Given the description of an element on the screen output the (x, y) to click on. 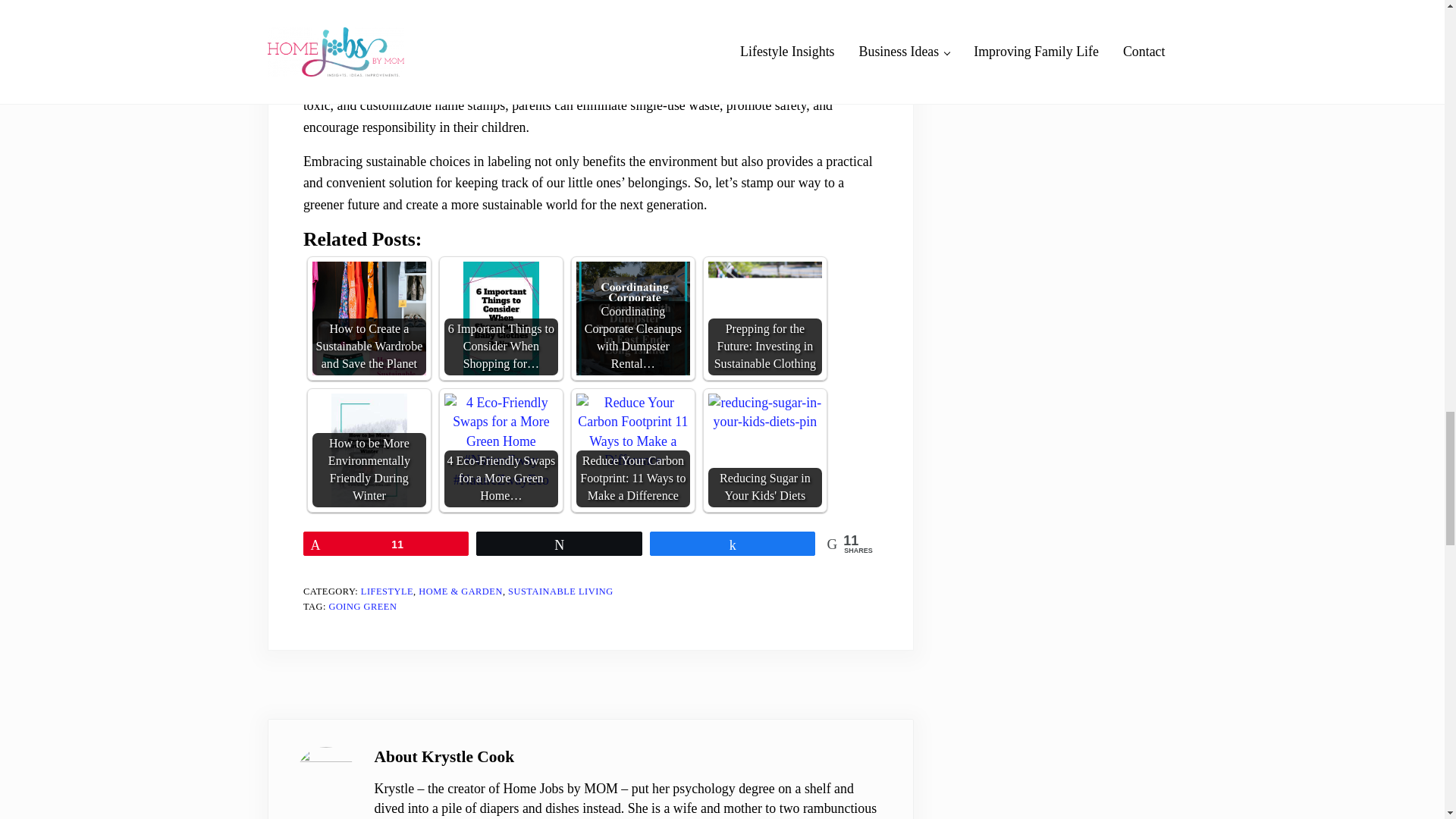
11 (386, 543)
Reduce Your Carbon Footprint: 11 Ways to Make a Difference (633, 449)
How to Create a Sustainable Wardrobe and Save the Planet (369, 318)
reducing our ecological footprint (611, 83)
Prepping for the Future: Investing in Sustainable Clothing (764, 304)
Reduce Your Carbon Footprint: 11 Ways to Make a Difference (633, 431)
Prepping for the Future: Investing in Sustainable Clothing (764, 318)
Reducing Sugar in Your Kids' Diets (764, 449)
How to be More Environmentally Friendly During Winter (369, 449)
How to be More Environmentally Friendly During Winter (369, 449)
How to Create a Sustainable Wardrobe and Save the Planet (369, 318)
Reducing Sugar in Your Kids' Diets (764, 412)
